Given the description of an element on the screen output the (x, y) to click on. 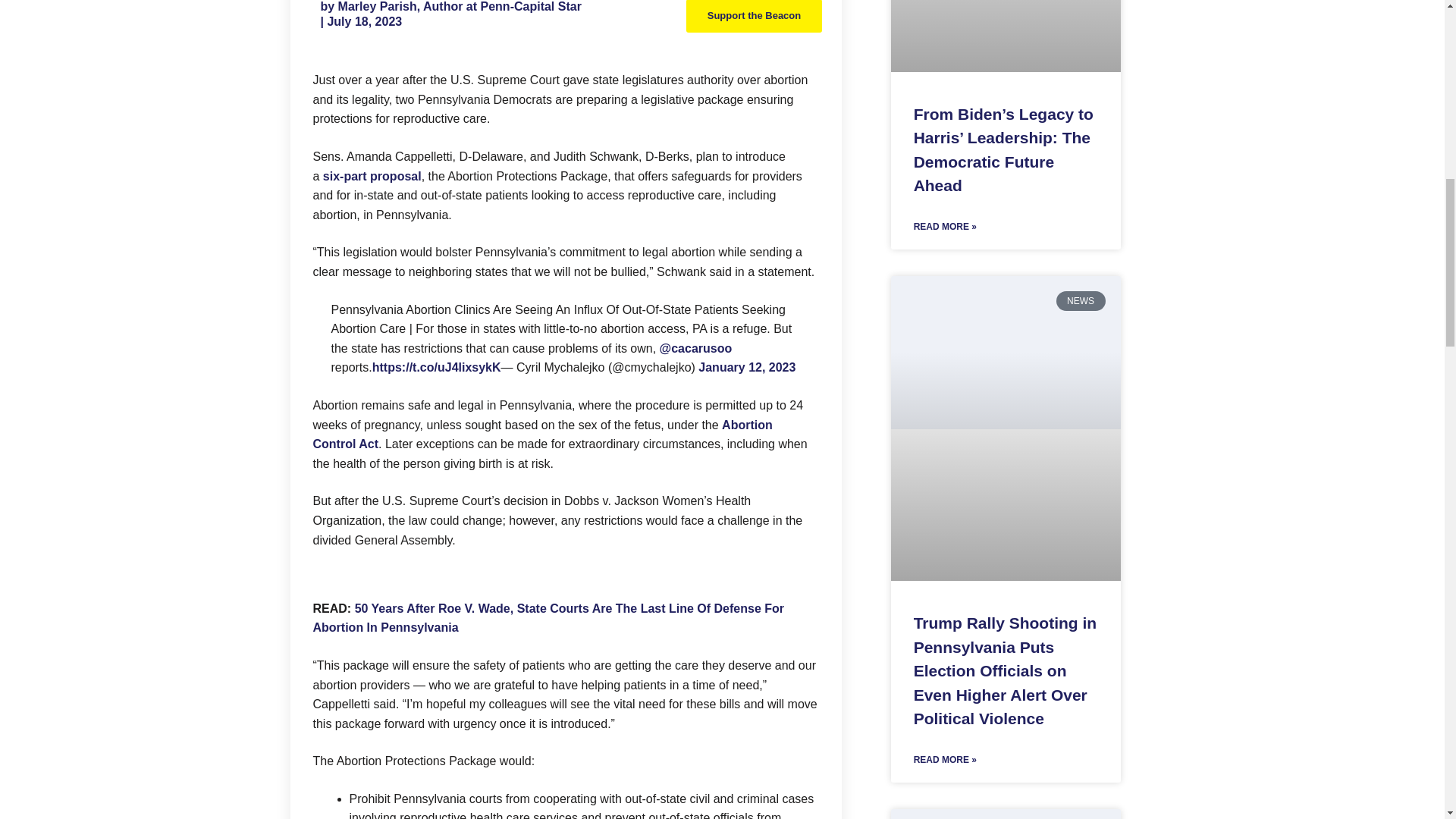
by Marley Parish, Author at Penn-Capital Star (450, 7)
January 12, 2023 (746, 367)
Abortion Control Act (542, 434)
Support the Beacon (753, 16)
six-part proposal (372, 175)
